Given the description of an element on the screen output the (x, y) to click on. 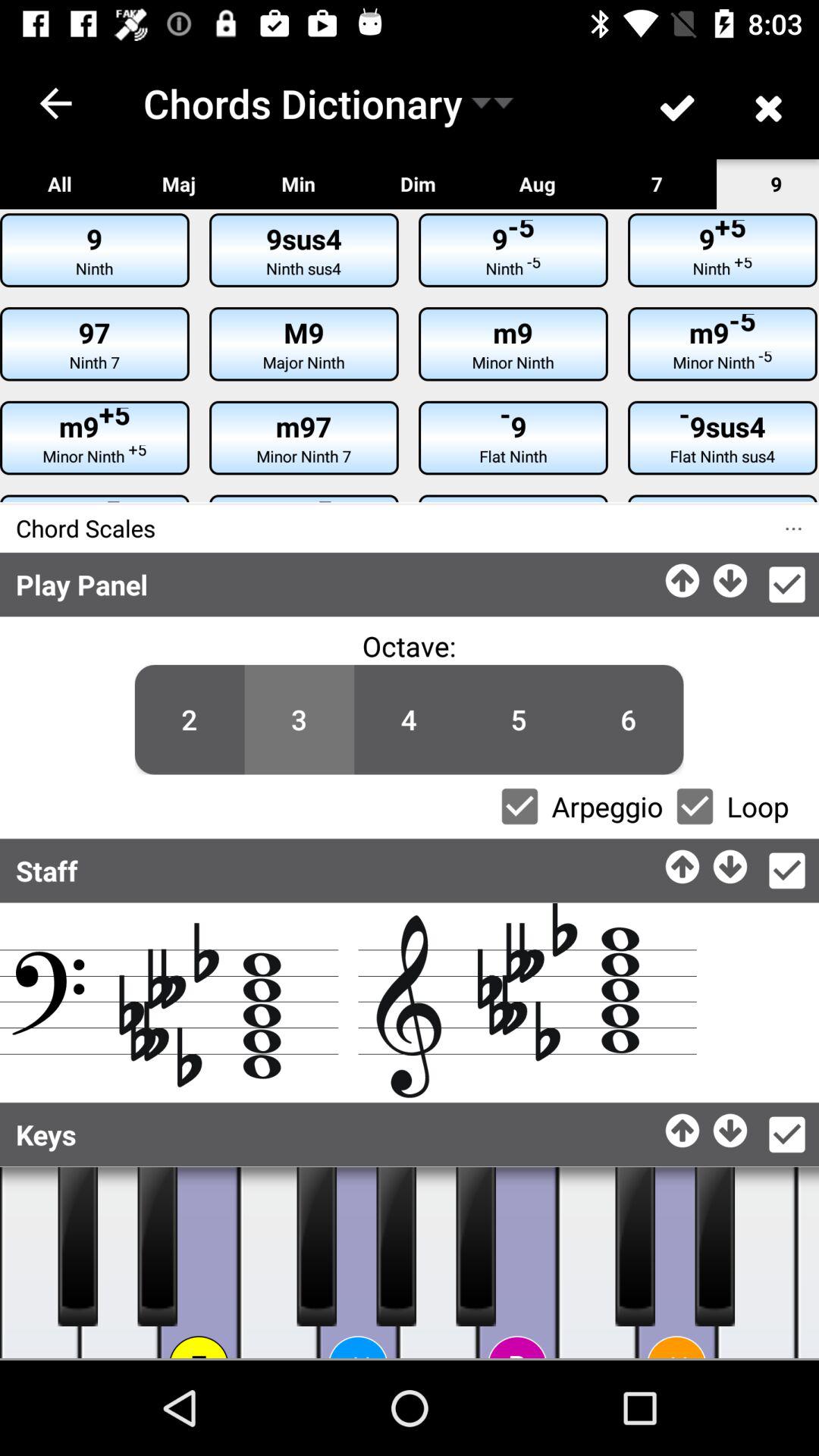
click to the pino button (358, 1262)
